Given the description of an element on the screen output the (x, y) to click on. 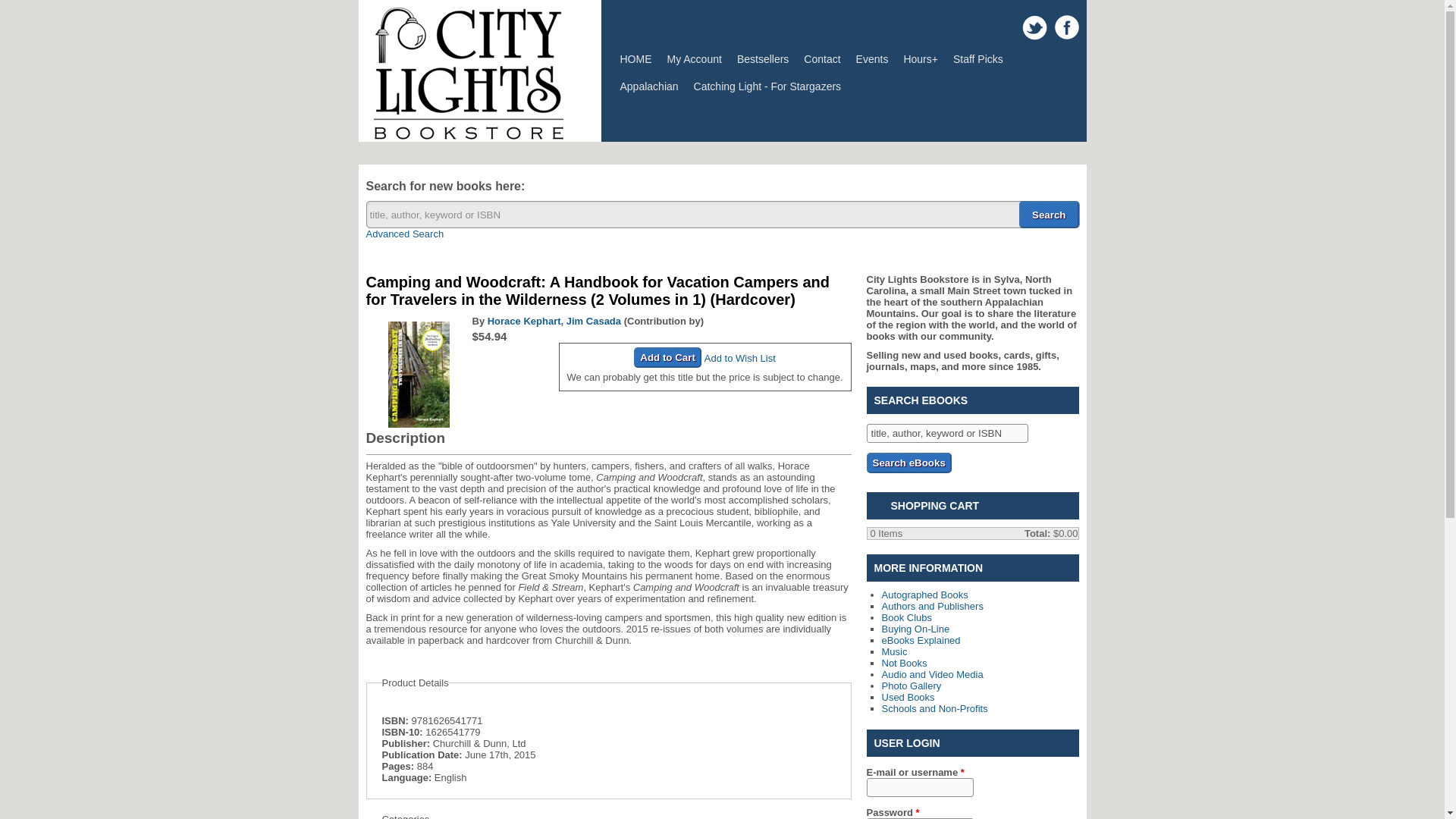
Bestsellers (762, 58)
Search eBooks (908, 462)
Add to Cart (667, 357)
Catching Light - For Stargazers (766, 85)
What's Up in the Night Sky? (766, 85)
Horace Kephart (523, 320)
Books signed by the author (924, 594)
Add to Wish List (740, 357)
Home (467, 135)
Search (1048, 214)
